Given the description of an element on the screen output the (x, y) to click on. 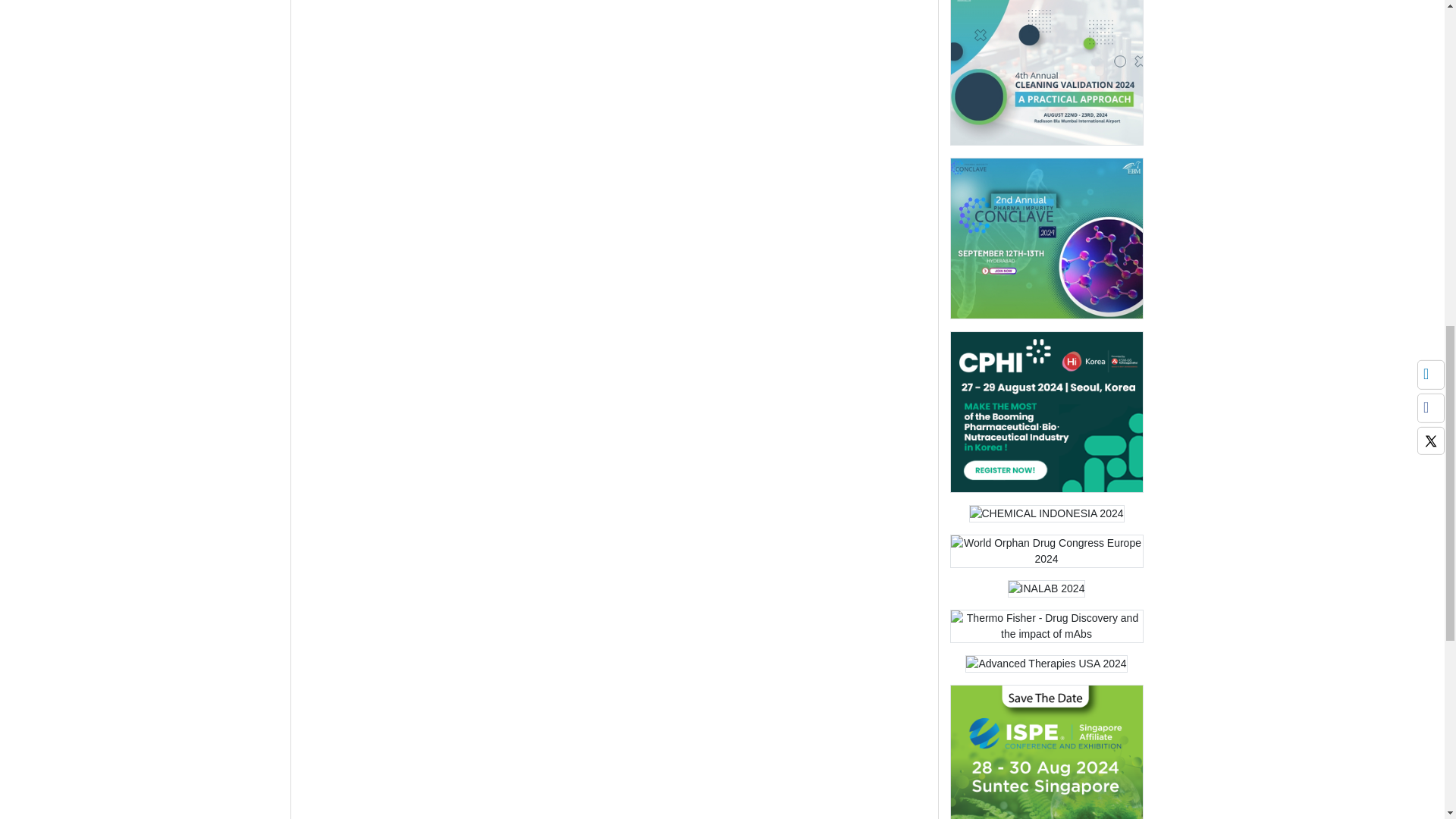
2nd Annual Pharma Impurity Conclave 2024 (1045, 243)
INALAB 2024 (1046, 588)
CHEMICAL INDONESIA 2024 (1046, 513)
World Orphan Drug Congress Europe 2024 (1045, 551)
4th Annual Cleaning Validation 2024 (1045, 72)
CHEMICAL INDONESIA 2024 (1046, 518)
CPHI Korea 2024 (1045, 417)
4th Annual Cleaning Validation 2024 (1045, 70)
2nd Annual Pharma Impurity Conclave 2024 (1045, 238)
World Orphan Drug Congress Europe 2024 (1045, 556)
INALAB 2024 (1046, 593)
CPHI Korea 2024 (1045, 412)
